Given the description of an element on the screen output the (x, y) to click on. 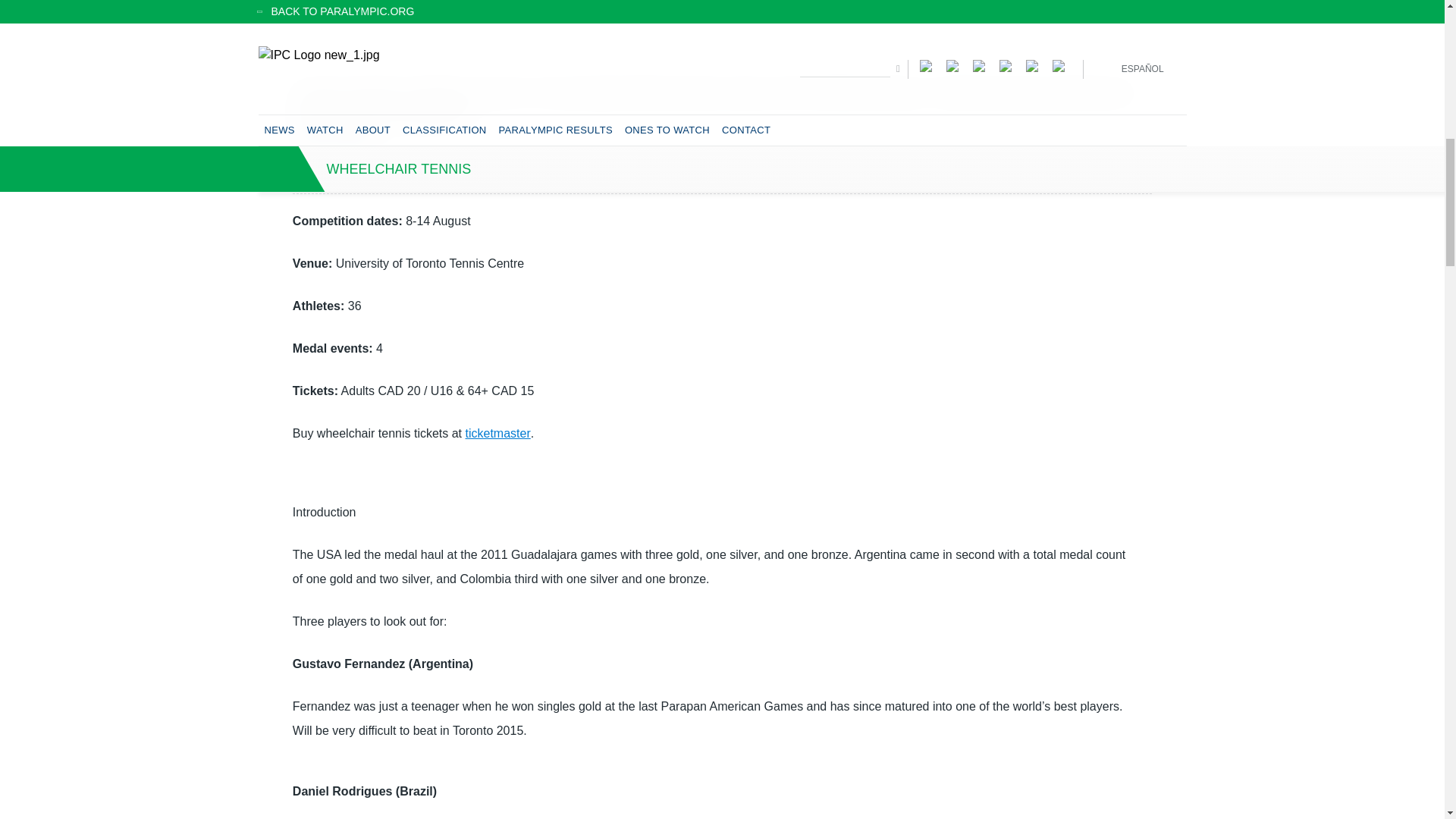
Gustavo Fernandez of Argentina (721, 25)
ticketmaster (498, 432)
